Given the description of an element on the screen output the (x, y) to click on. 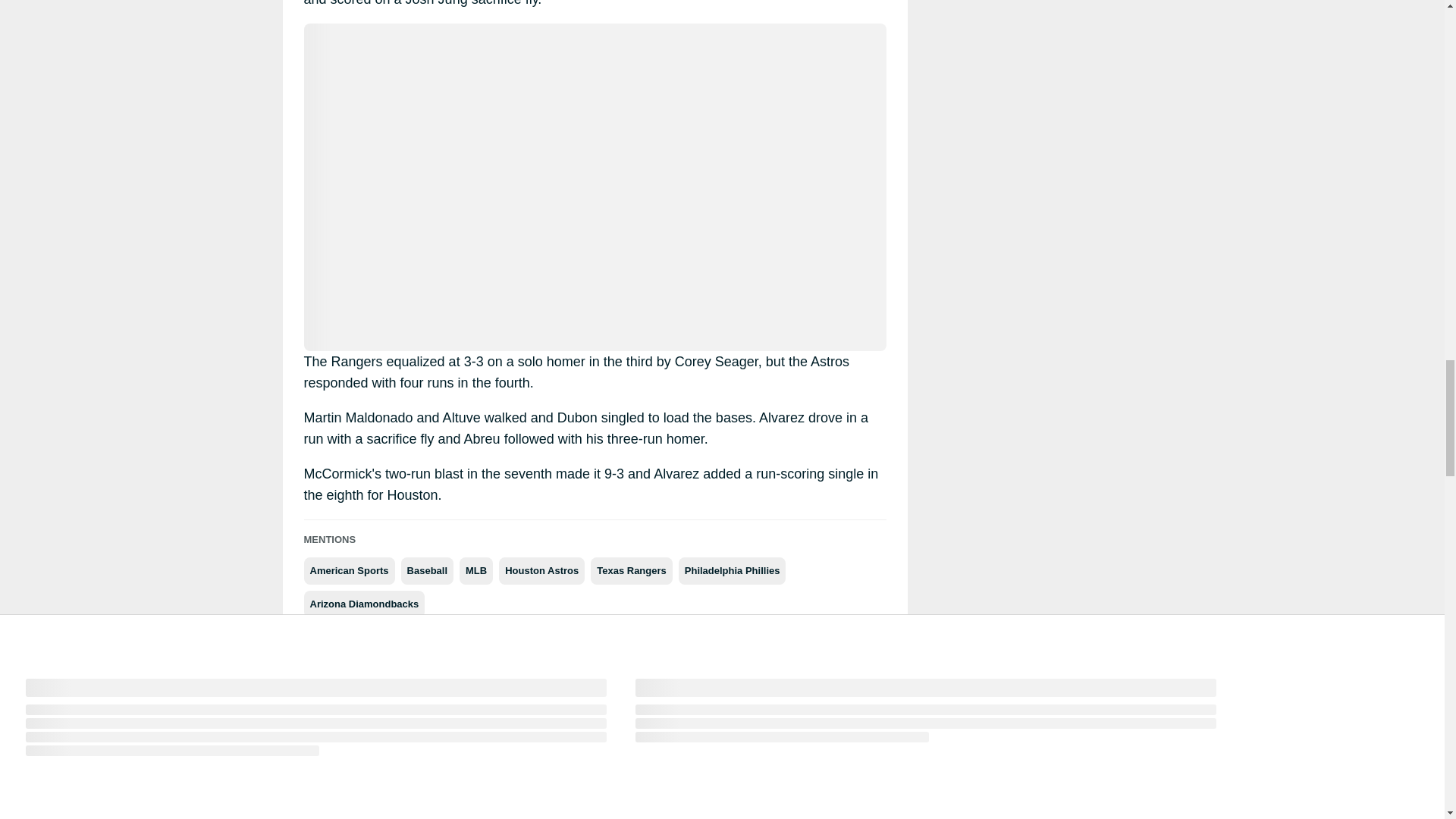
American Sports (348, 570)
Texas Rangers (631, 570)
MLB (476, 570)
Arizona Diamondbacks (363, 604)
Texas Rangers (631, 570)
Houston Astros (542, 570)
MLB (476, 570)
American Sports (348, 570)
Houston Astros (542, 570)
